Given the description of an element on the screen output the (x, y) to click on. 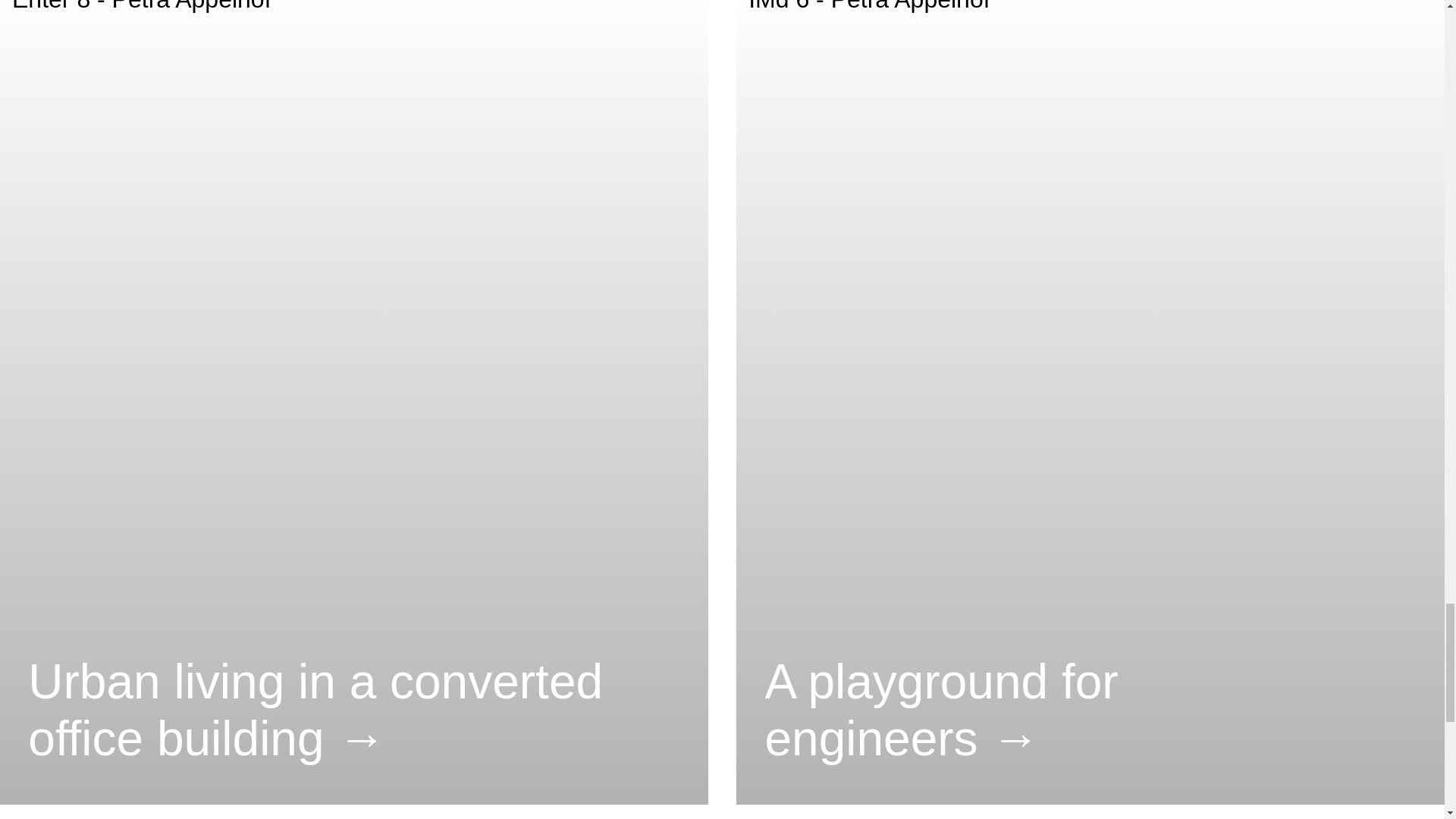
Urban living in a converted office building (353, 709)
A playground for engineers (1089, 709)
